Given the description of an element on the screen output the (x, y) to click on. 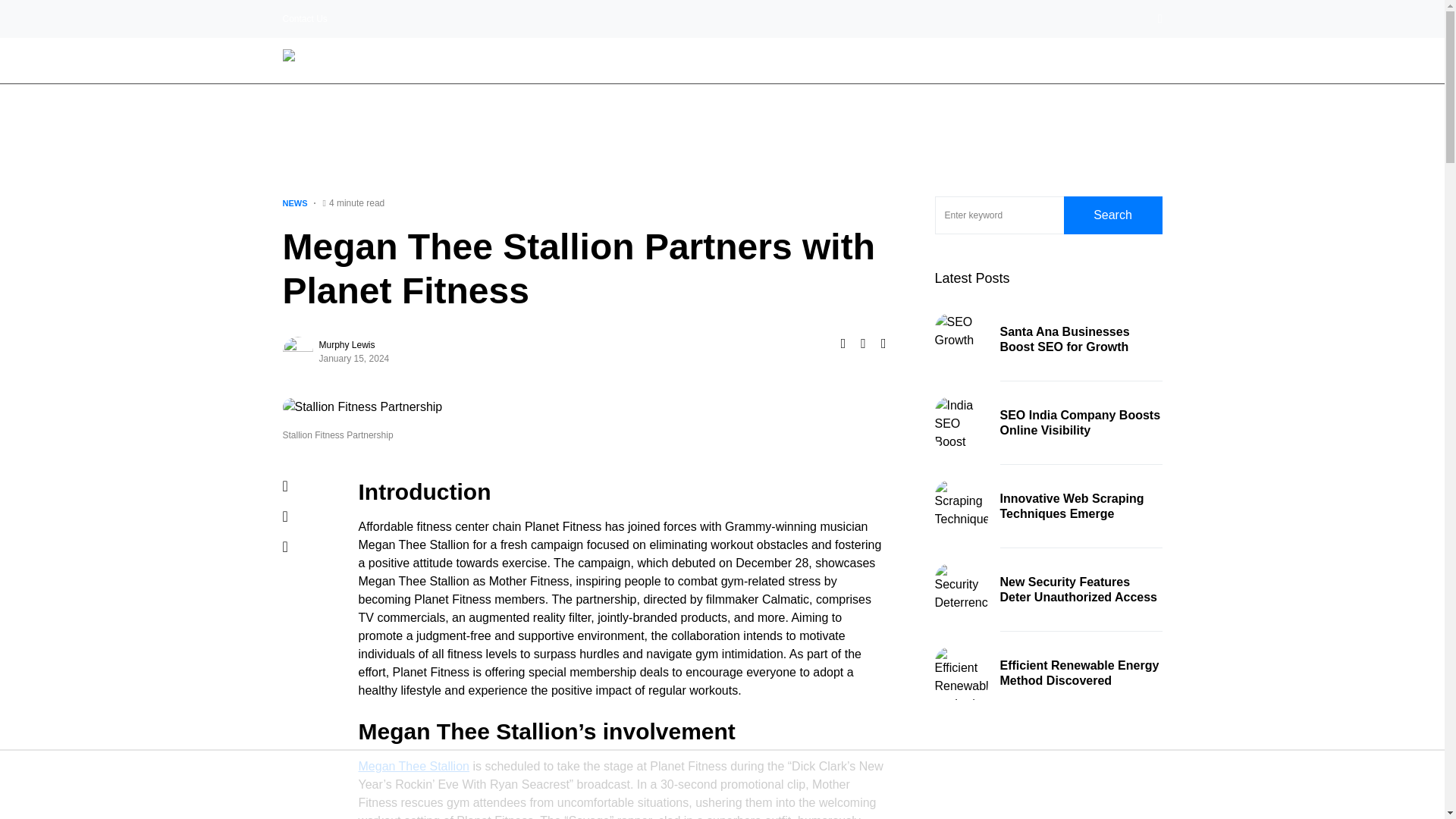
Contact Us (304, 18)
